Given the description of an element on the screen output the (x, y) to click on. 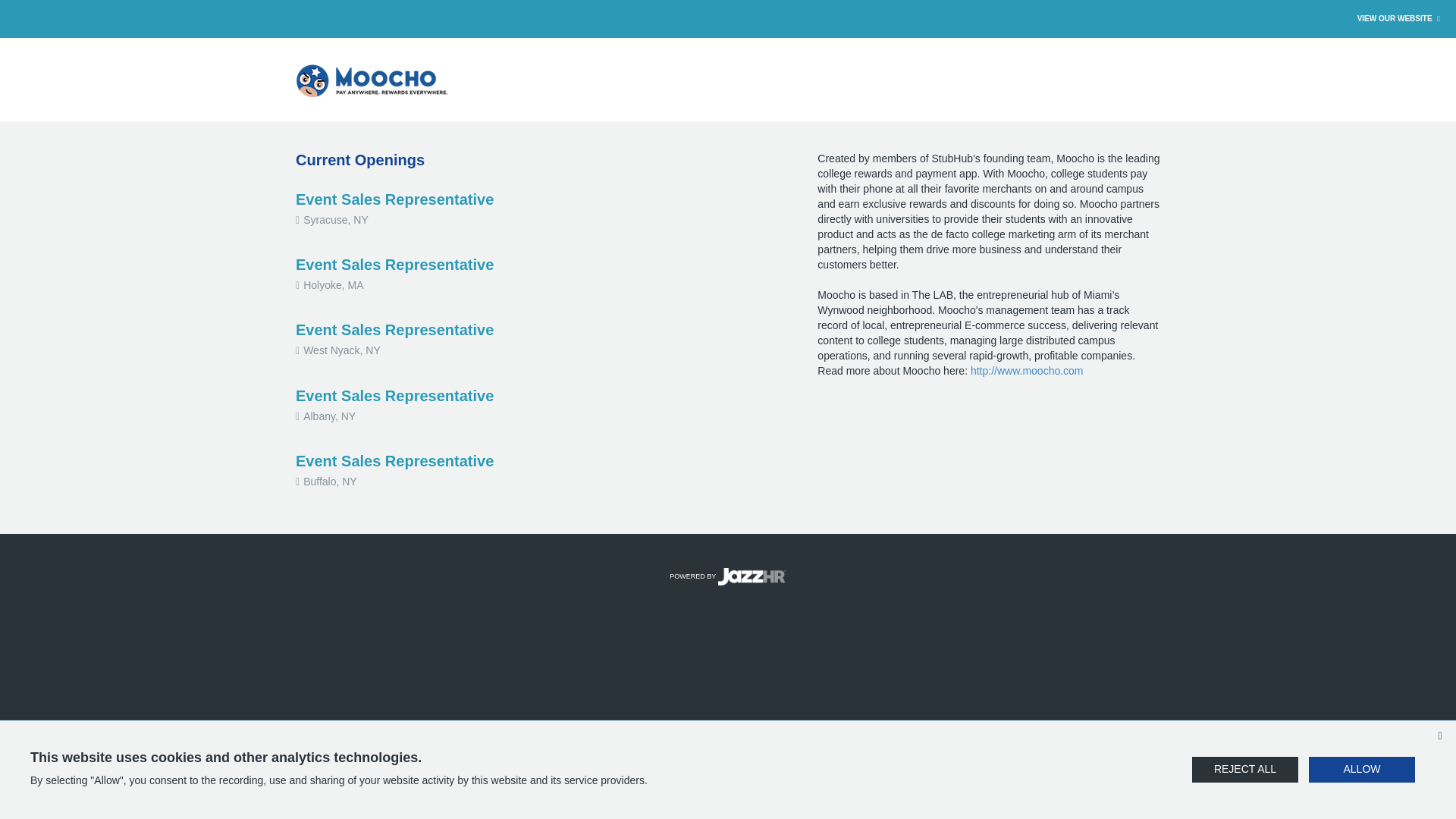
Event Sales Representative (394, 460)
Event Sales Representative (394, 329)
Event Sales Representative (394, 264)
POWERED BY (727, 575)
Event Sales Representative (394, 395)
VIEW OUR WEBSITE (1400, 18)
Event Sales Representative (394, 199)
